Given the description of an element on the screen output the (x, y) to click on. 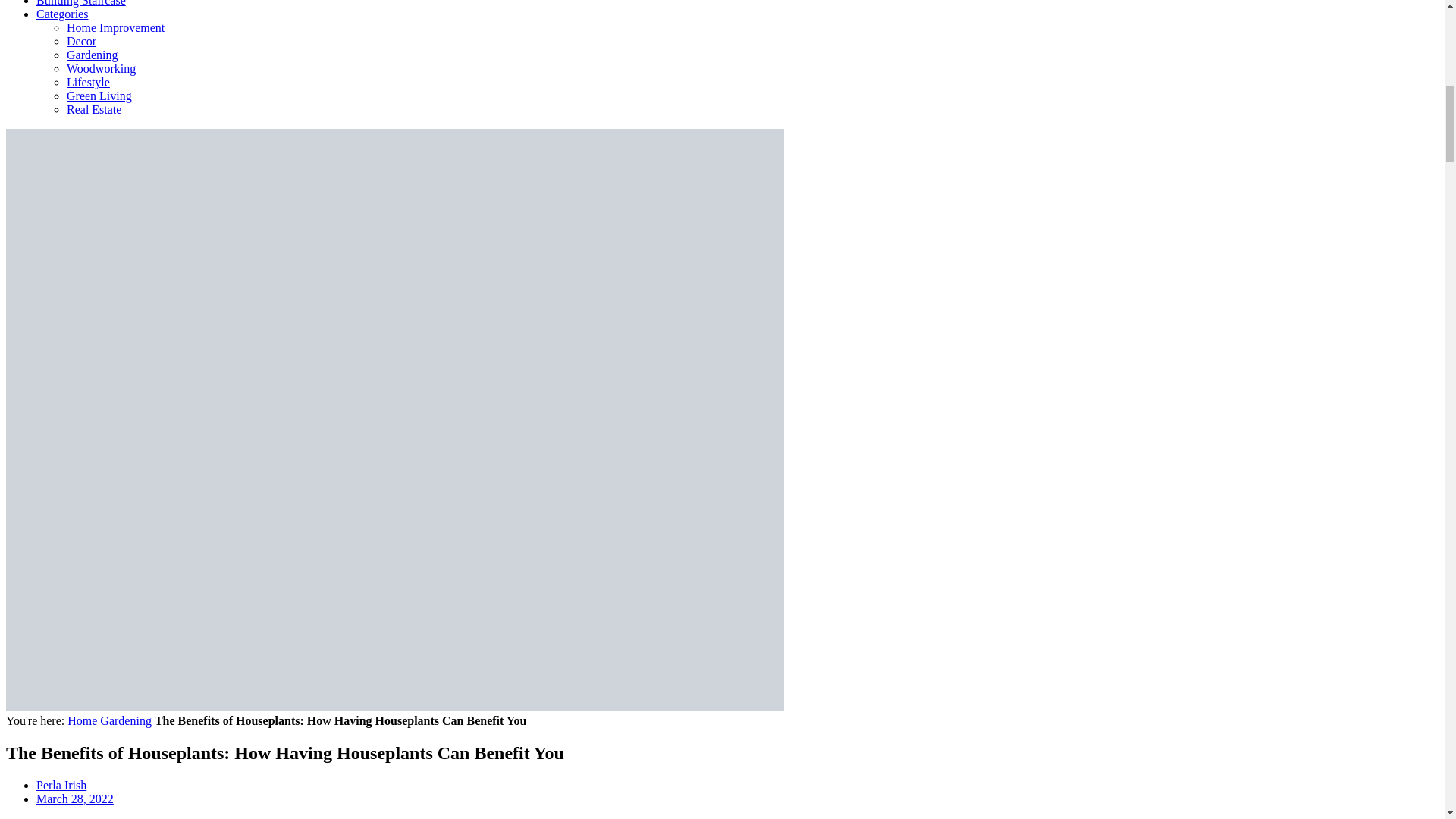
View all posts by Perla Irish (60, 784)
